Given the description of an element on the screen output the (x, y) to click on. 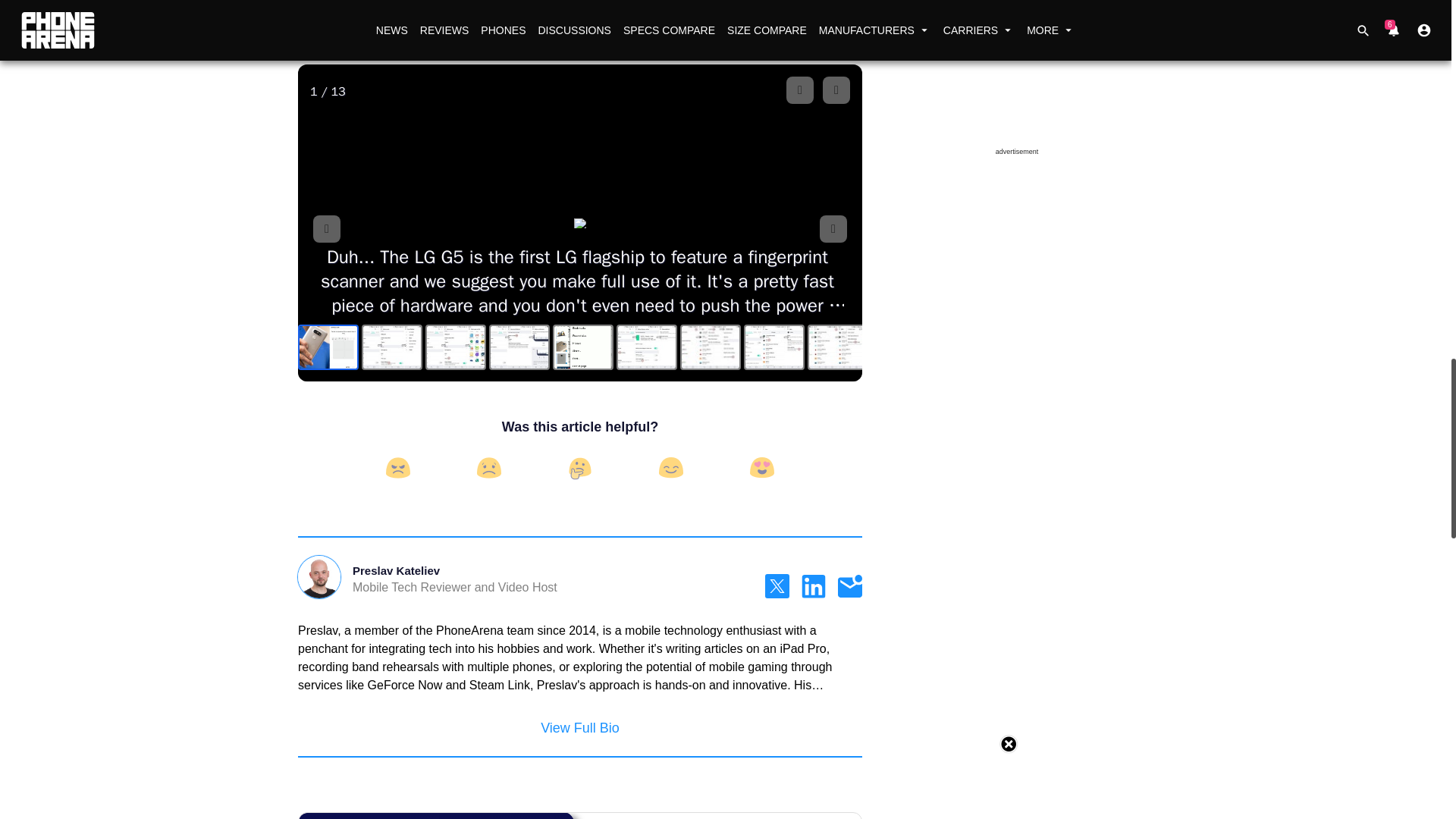
3rd party ad content (1016, 257)
